Given the description of an element on the screen output the (x, y) to click on. 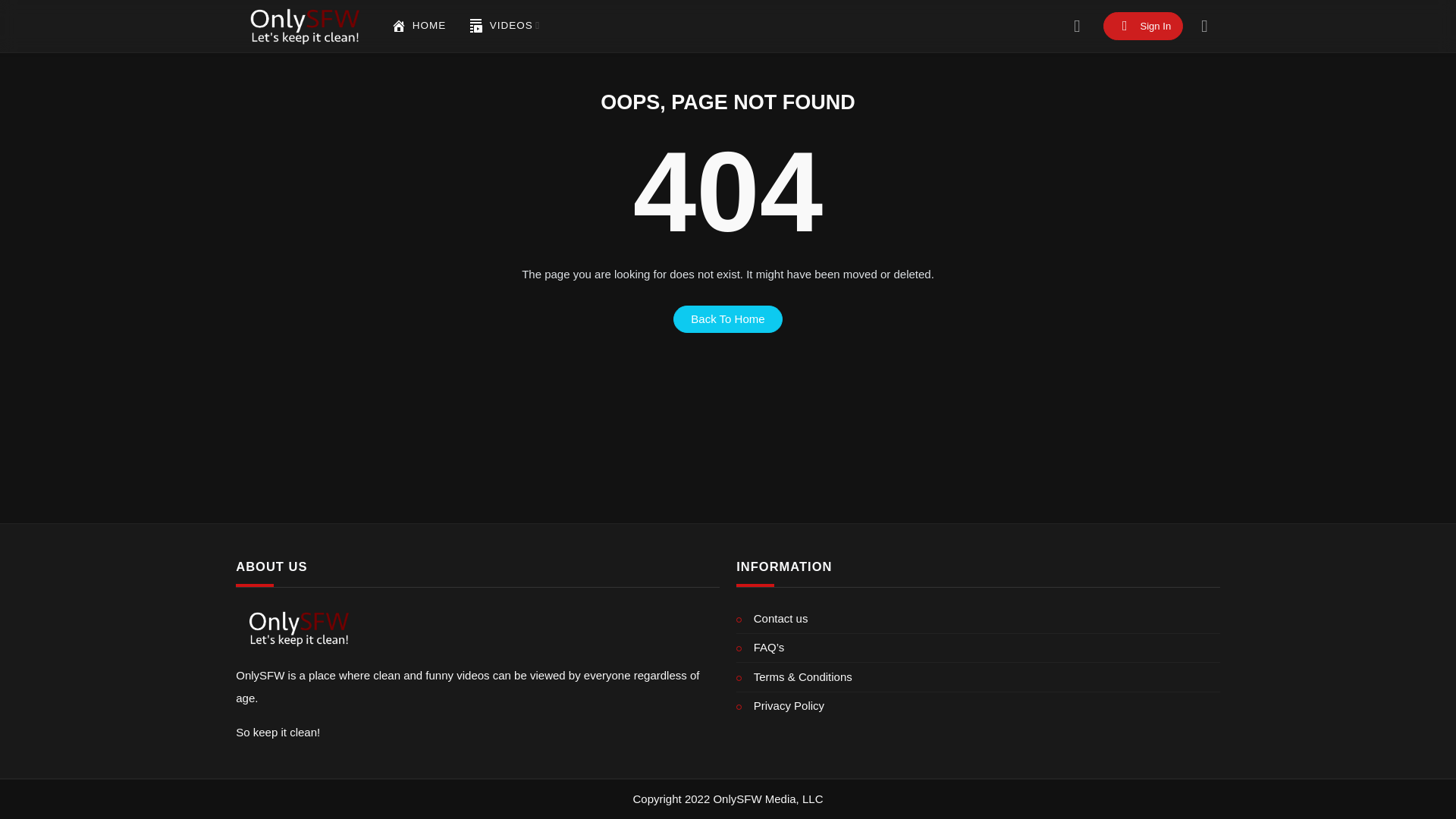
Contact us (978, 619)
Sign In (1143, 26)
Home (398, 25)
Home (418, 25)
Videos (504, 25)
Back To Home (727, 318)
Videos (475, 25)
HOME (418, 25)
Privacy Policy (978, 705)
VIDEOS (504, 25)
